Given the description of an element on the screen output the (x, y) to click on. 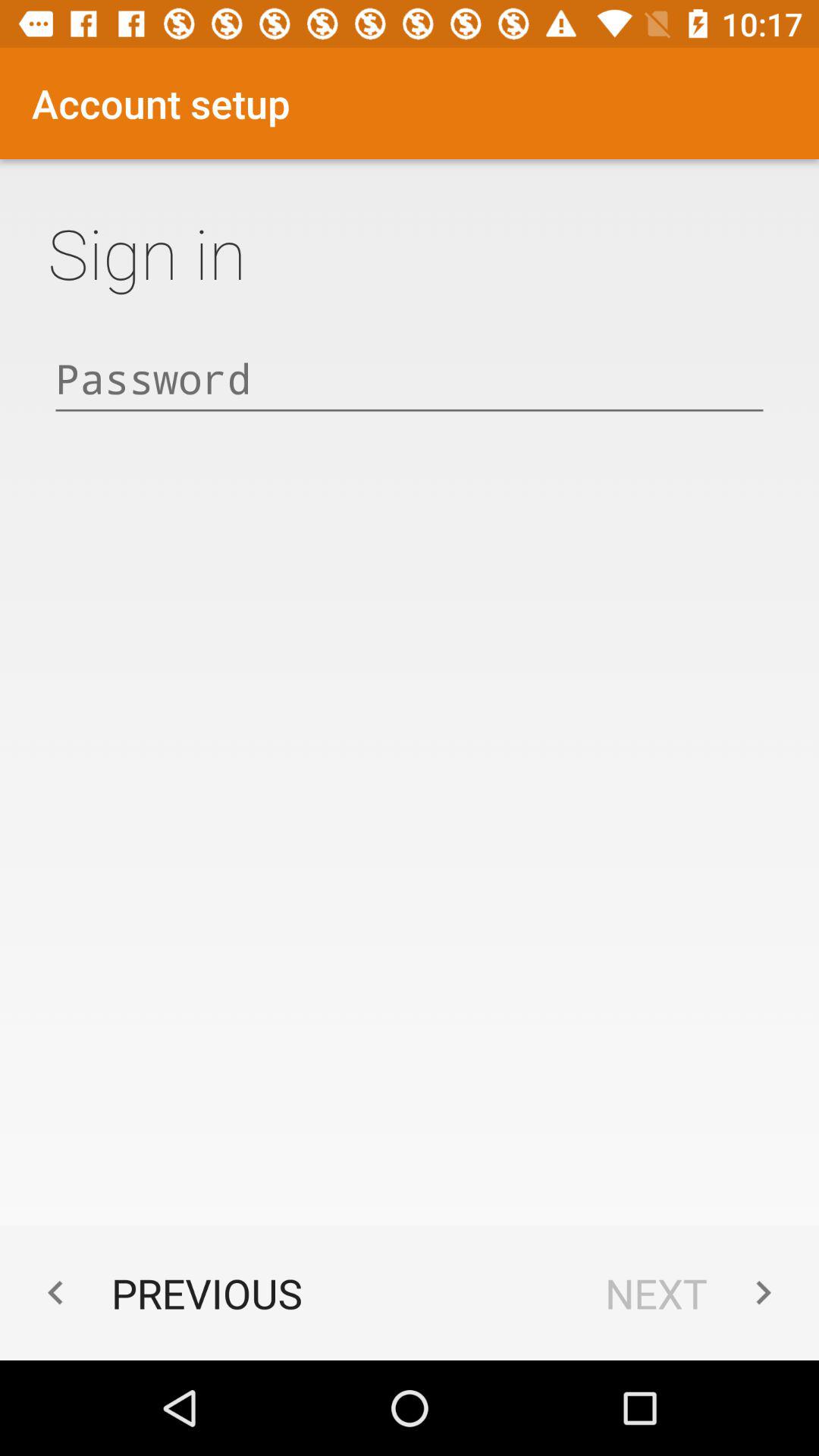
press the app to the right of the previous icon (696, 1292)
